Given the description of an element on the screen output the (x, y) to click on. 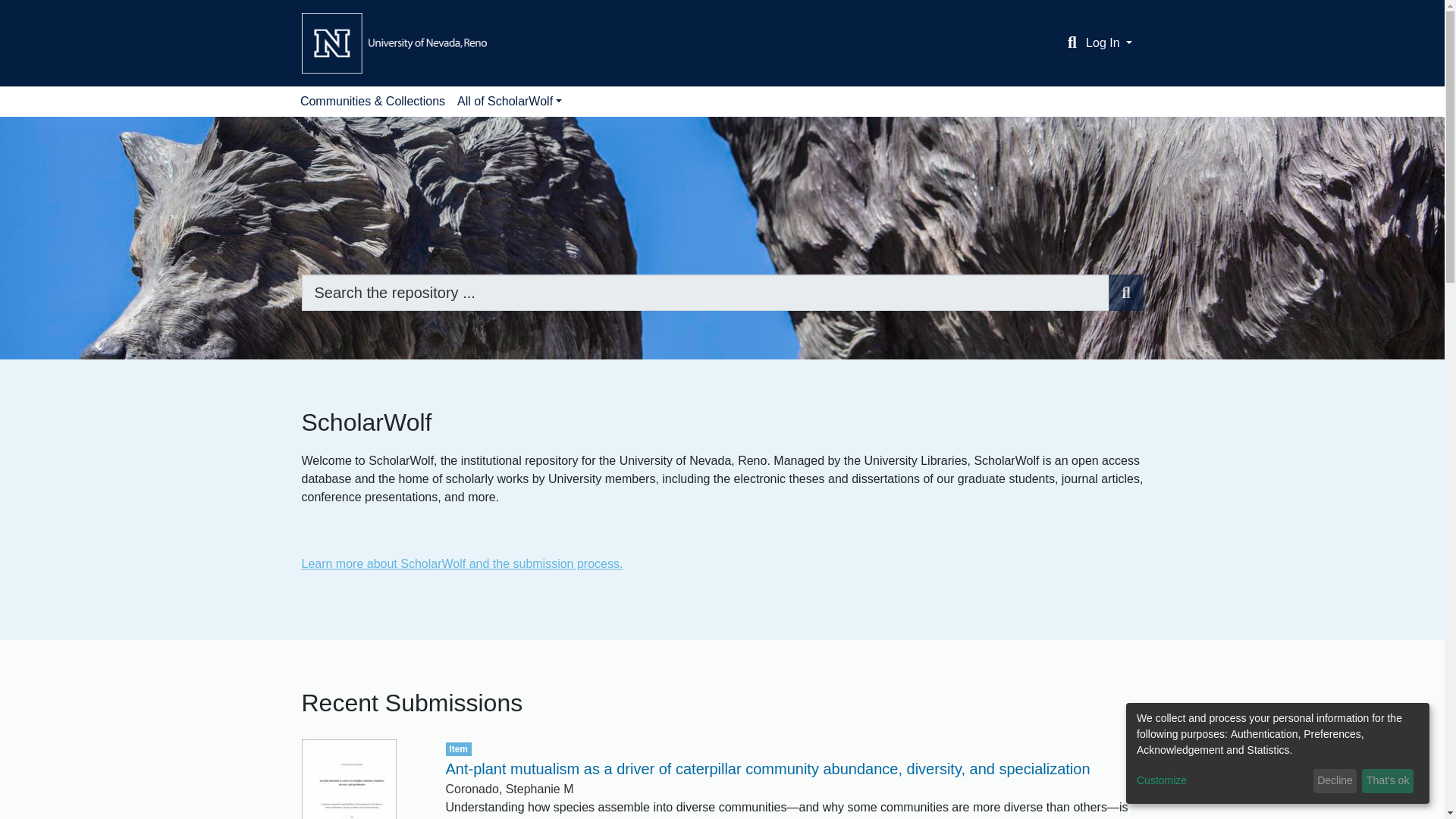
Search (1125, 292)
All of ScholarWolf (509, 101)
Learn more about ScholarWolf and the submission process. (462, 563)
Customize (1222, 780)
Search (1072, 43)
Log In (1108, 42)
